Given the description of an element on the screen output the (x, y) to click on. 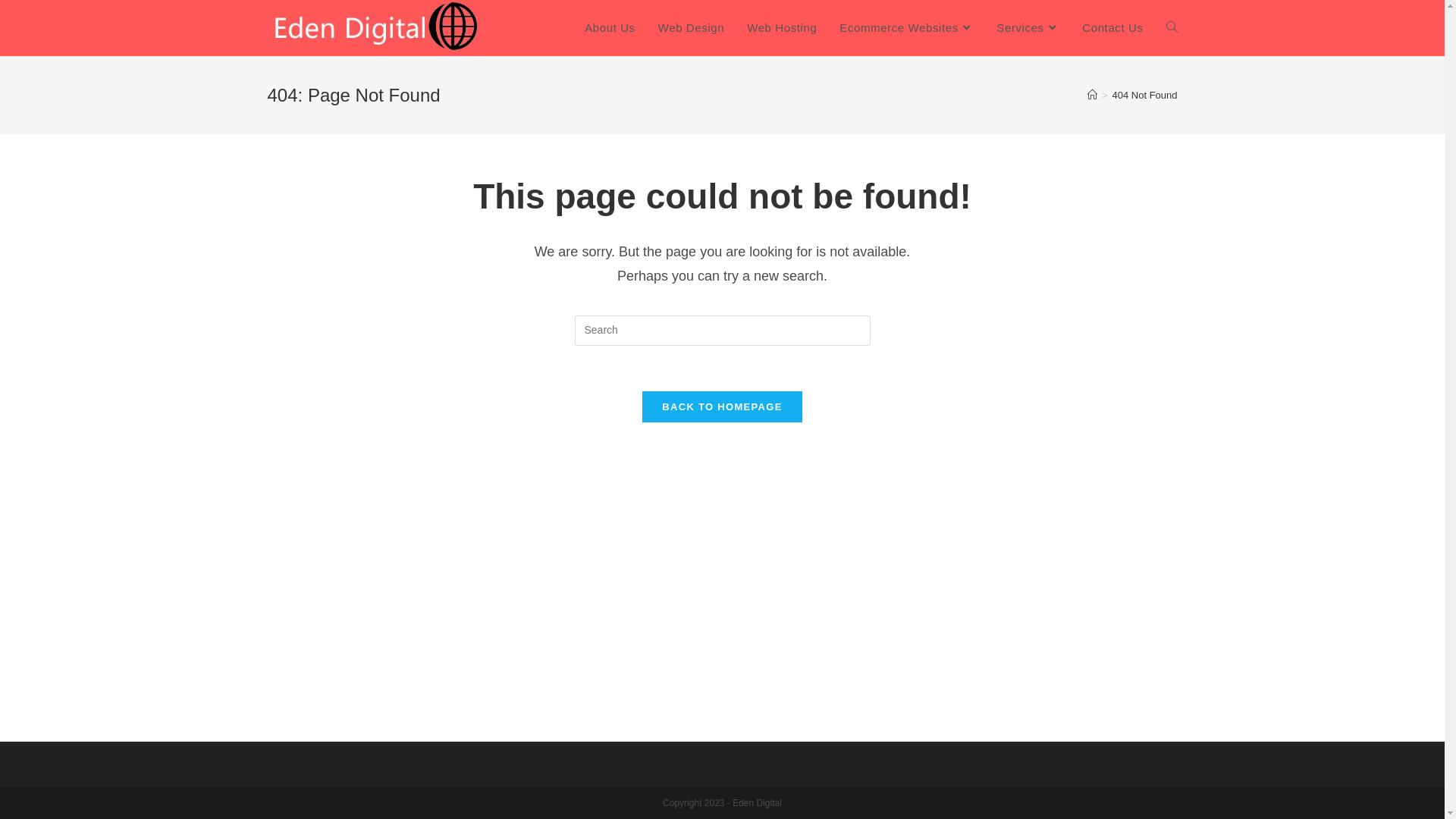
Web Hosting Element type: text (781, 28)
Contact Us Element type: text (1112, 28)
Web Design Element type: text (690, 28)
Ecommerce Websites Element type: text (906, 28)
Services Element type: text (1027, 28)
BACK TO HOMEPAGE Element type: text (721, 406)
404 Not Found Element type: text (1143, 94)
About Us Element type: text (609, 28)
